Given the description of an element on the screen output the (x, y) to click on. 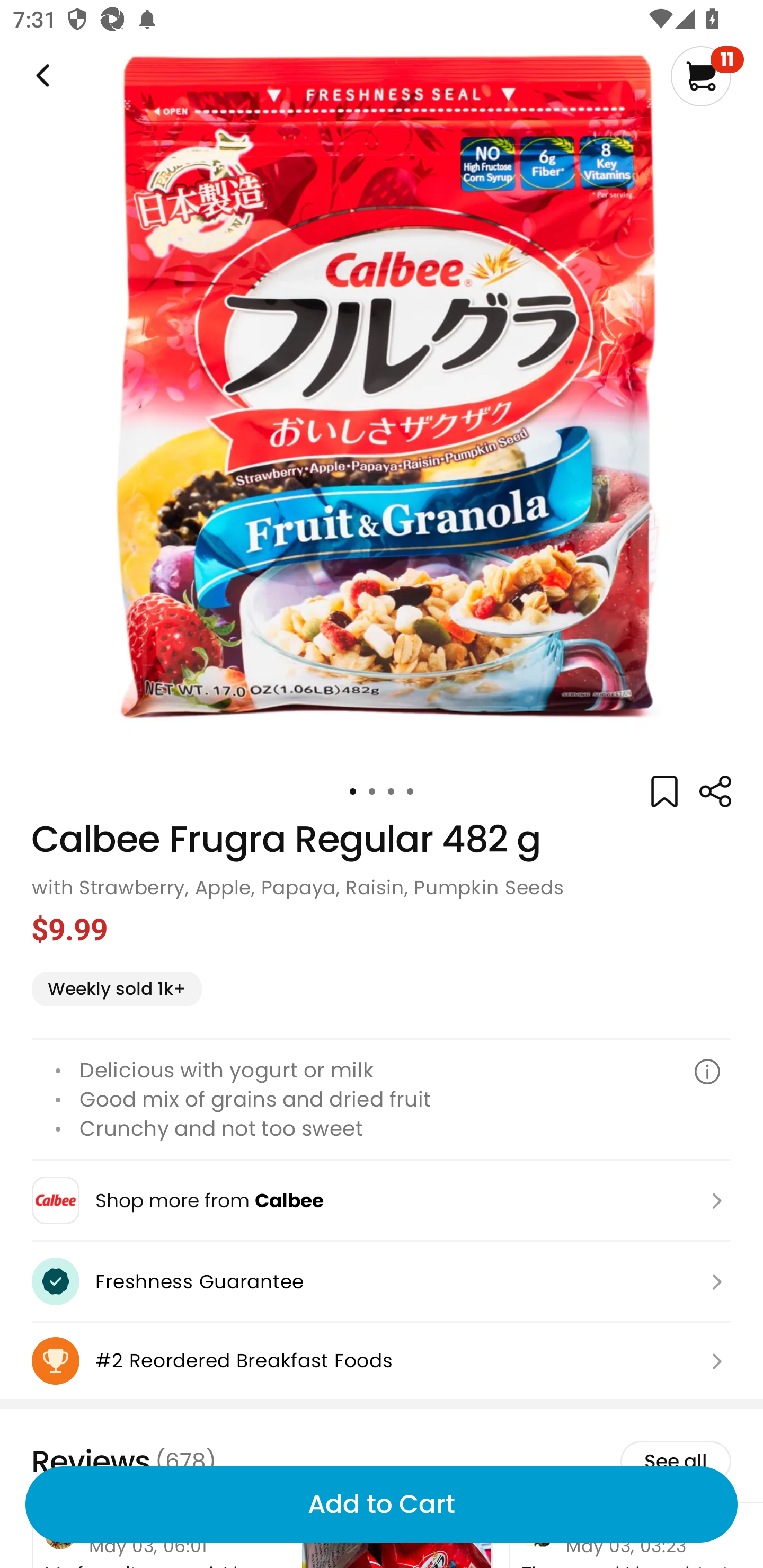
Weee! (41, 75)
11 (706, 75)
Weee! (714, 791)
Shop more from Calbee Weee! (381, 1200)
Freshness Guarantee (381, 1281)
Weee! #2 Reordered Breakfast Foods (381, 1360)
Add to Cart (381, 1504)
Add to Cart (381, 1504)
